Given the description of an element on the screen output the (x, y) to click on. 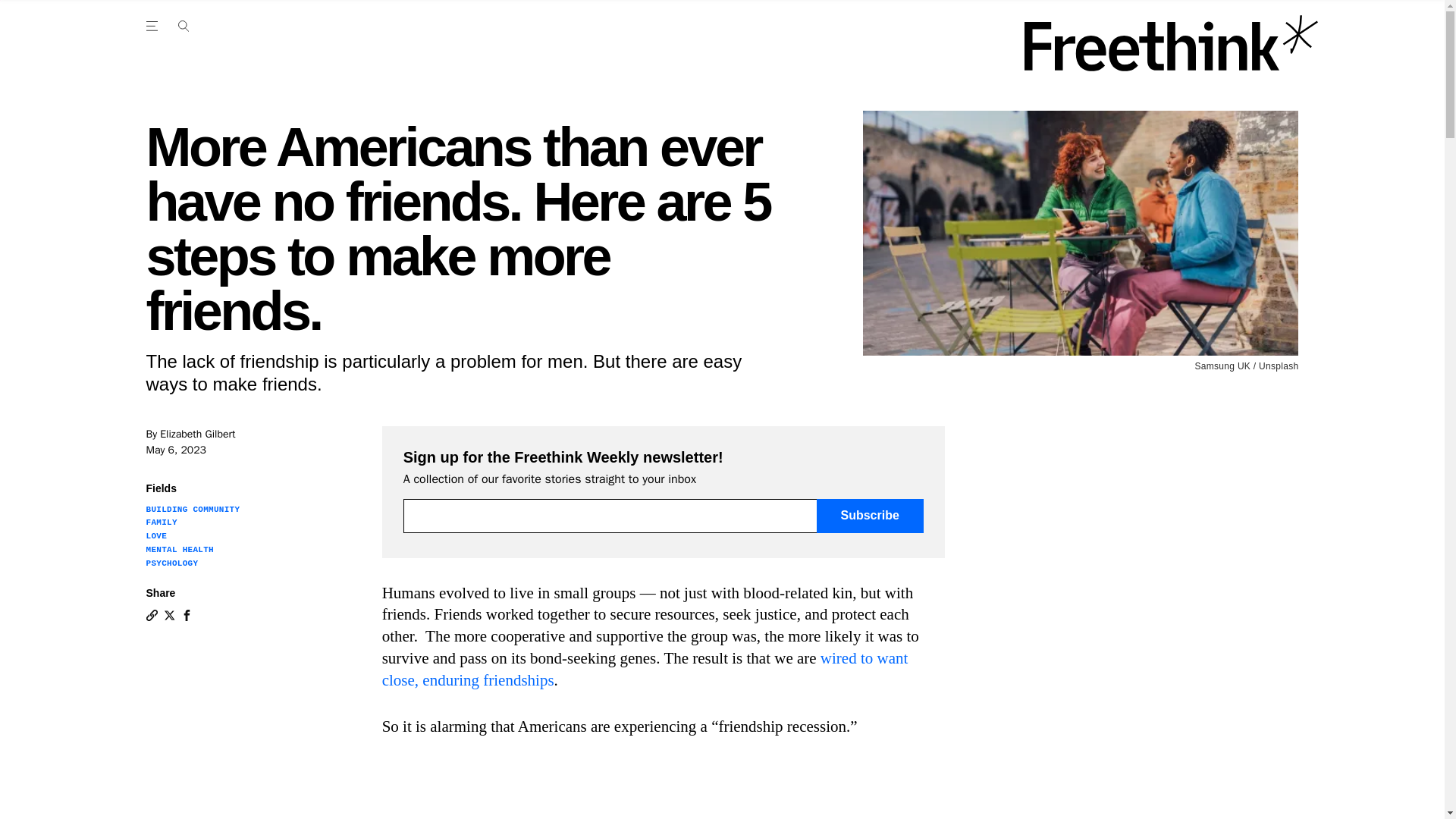
BUILDING COMMUNITY (192, 509)
LOVE (156, 535)
Open the Main Navigation Menu (182, 26)
Open the Main Navigation Menu (153, 26)
Subscribe (869, 515)
FAMILY (160, 522)
